Given the description of an element on the screen output the (x, y) to click on. 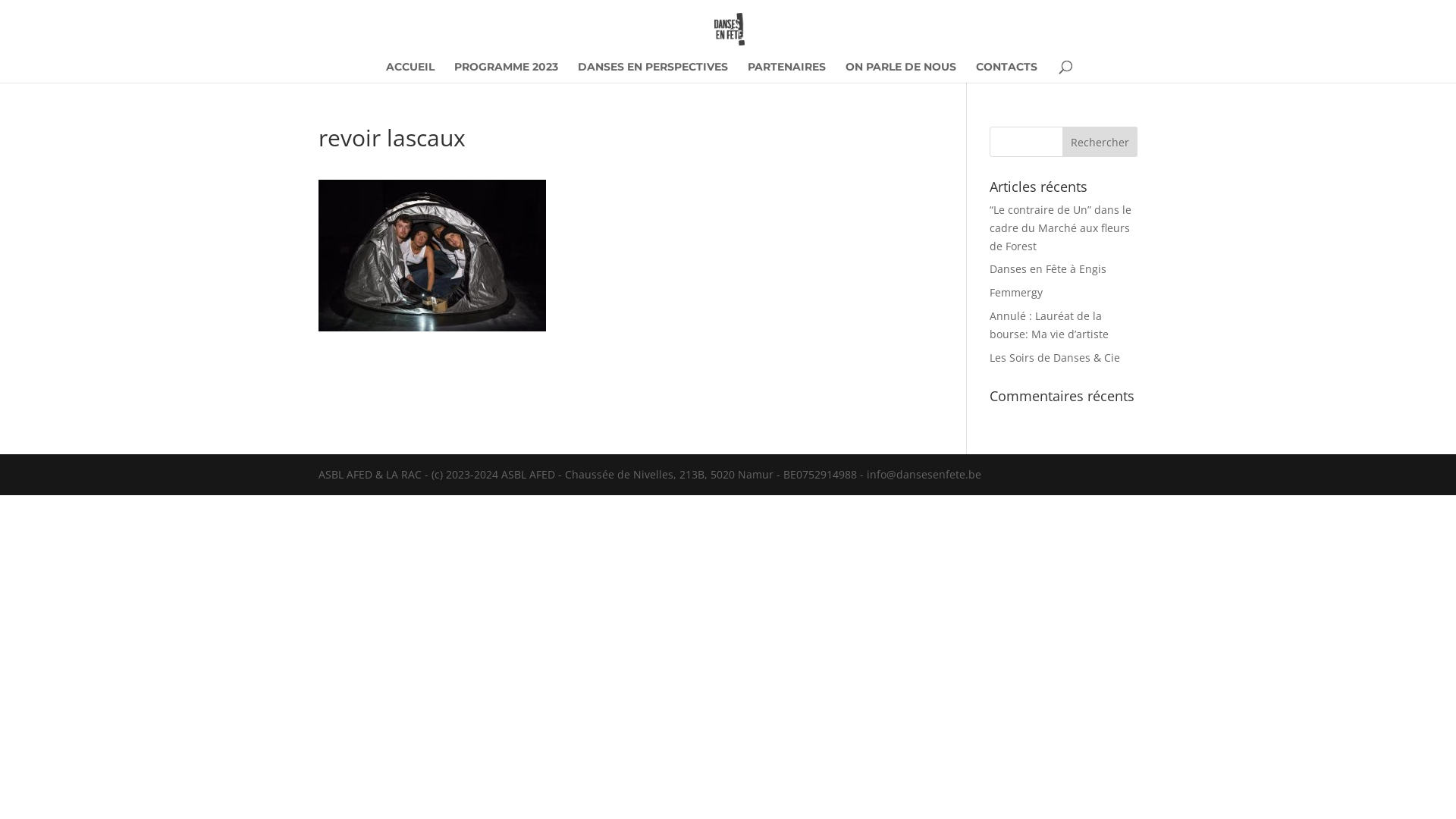
Les Soirs de Danses & Cie Element type: text (1054, 357)
ACCUEIL Element type: text (409, 71)
Rechercher Element type: text (1099, 141)
PARTENAIRES Element type: text (786, 71)
CONTACTS Element type: text (1005, 71)
Femmergy Element type: text (1015, 292)
ON PARLE DE NOUS Element type: text (899, 71)
DANSES EN PERSPECTIVES Element type: text (652, 71)
PROGRAMME 2023 Element type: text (505, 71)
